Given the description of an element on the screen output the (x, y) to click on. 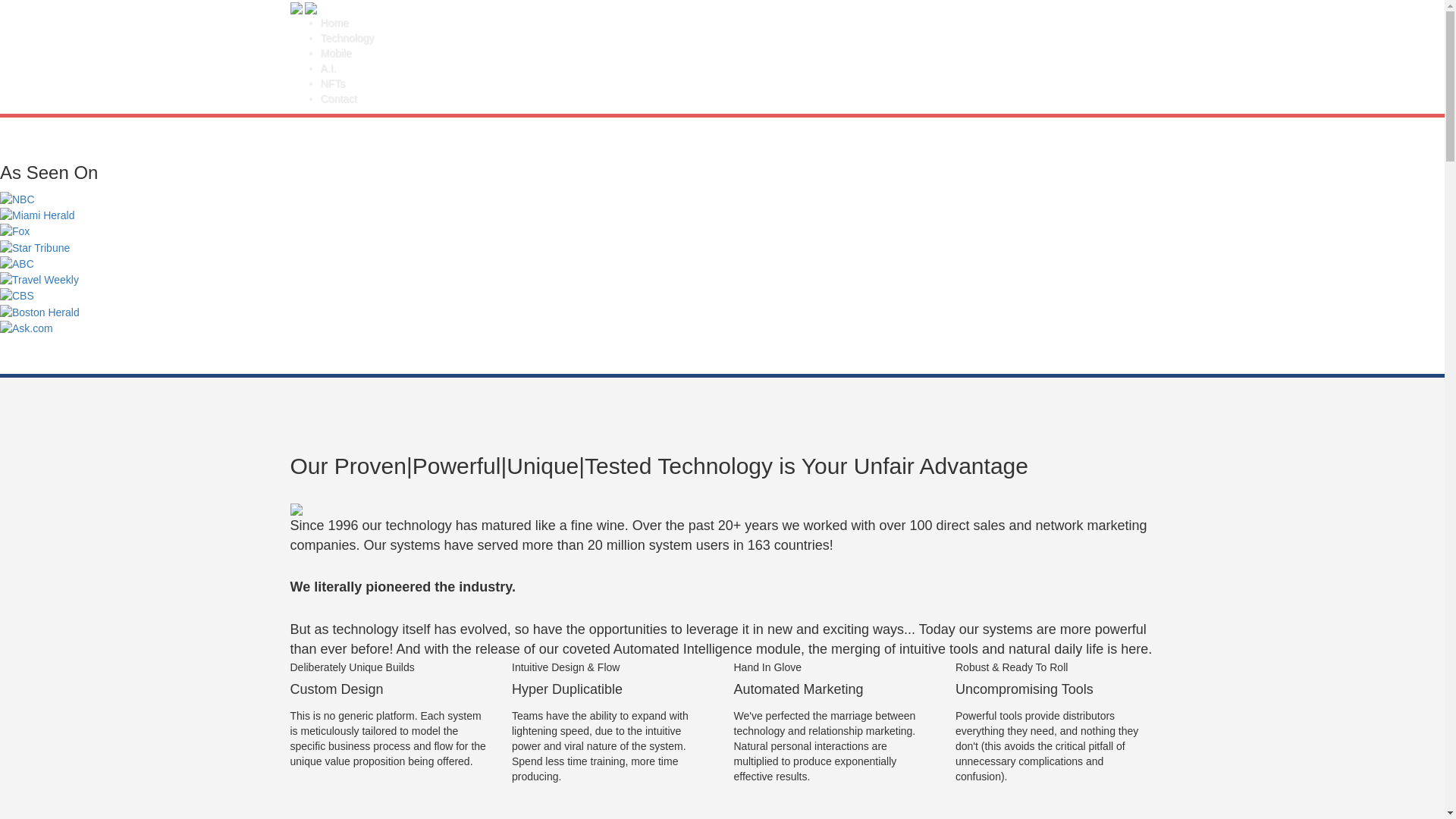
A.I. Element type: text (737, 67)
Technology Element type: text (737, 37)
Contact Element type: text (737, 98)
Home Element type: text (737, 22)
NFTs Element type: text (737, 83)
Mobile Element type: text (737, 52)
